Given the description of an element on the screen output the (x, y) to click on. 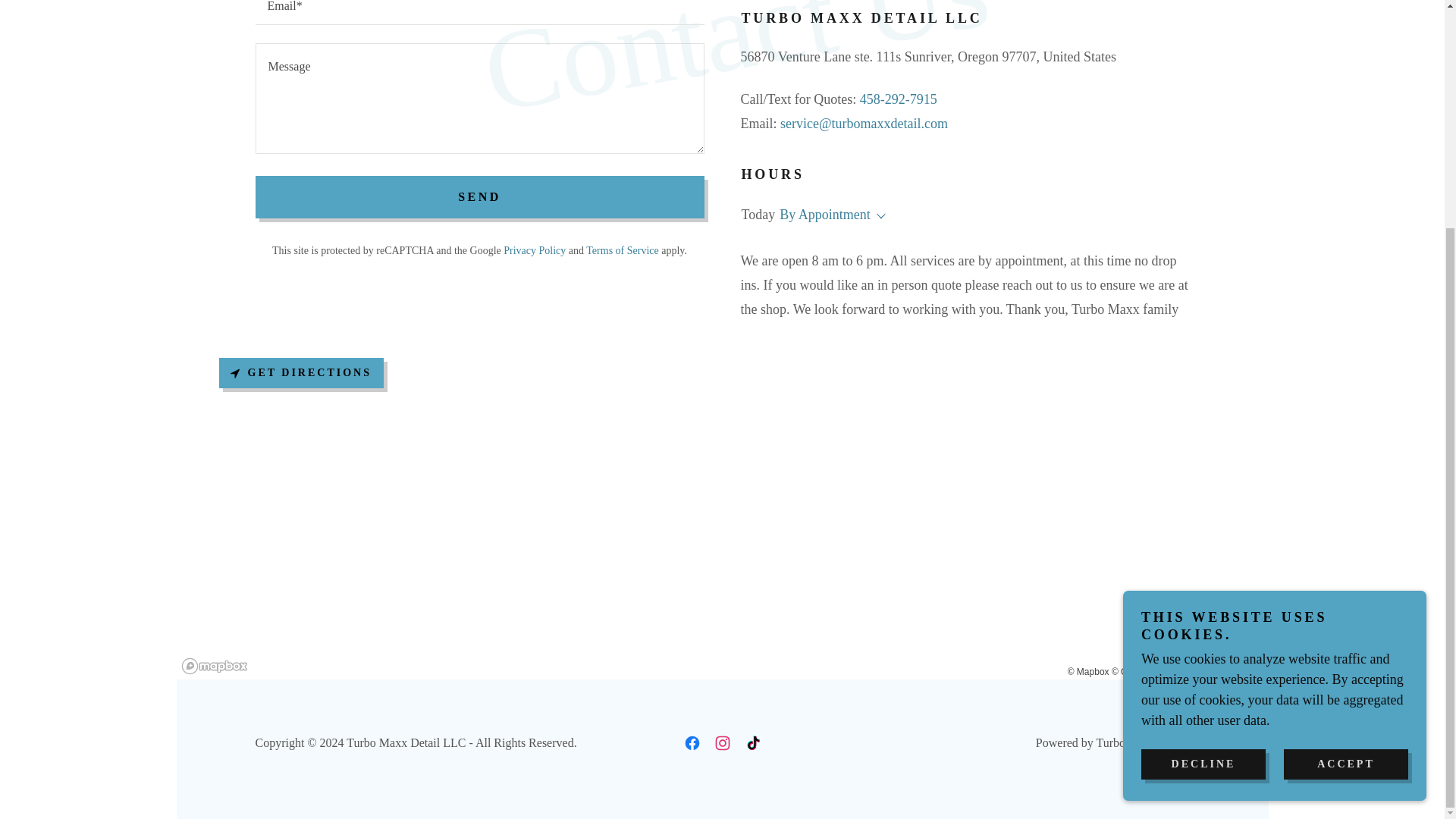
SEND (478, 197)
DECLINE (1203, 458)
458-292-7915 (898, 99)
ACCEPT (1345, 458)
Mapbox (1088, 670)
GET DIRECTIONS (300, 372)
OpenStreetMap (1148, 670)
Improve this map (1226, 670)
Privacy Policy (534, 249)
Terms of Service (622, 249)
